Given the description of an element on the screen output the (x, y) to click on. 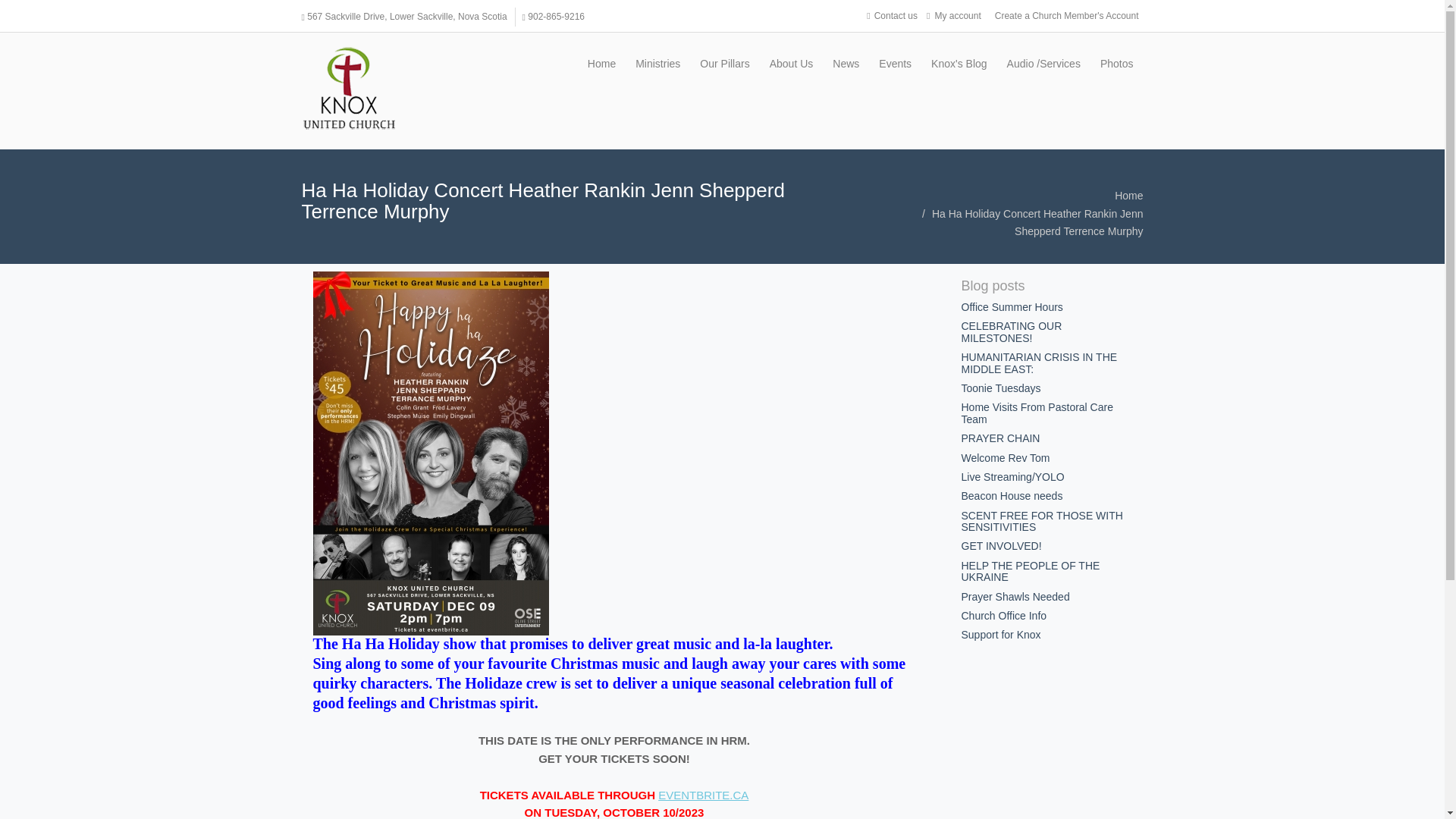
About Us (792, 63)
Create a Church Member's Account (1066, 15)
Home (1128, 195)
Photos (1116, 63)
Events (895, 63)
EVENTBRITE.CA (703, 794)
Contact us (891, 15)
Home (602, 63)
My account (955, 15)
News (845, 63)
Our Pillars (724, 63)
Return to the Knox United Church home page (349, 87)
Ministries (658, 63)
Knox's Blog (959, 63)
